Given the description of an element on the screen output the (x, y) to click on. 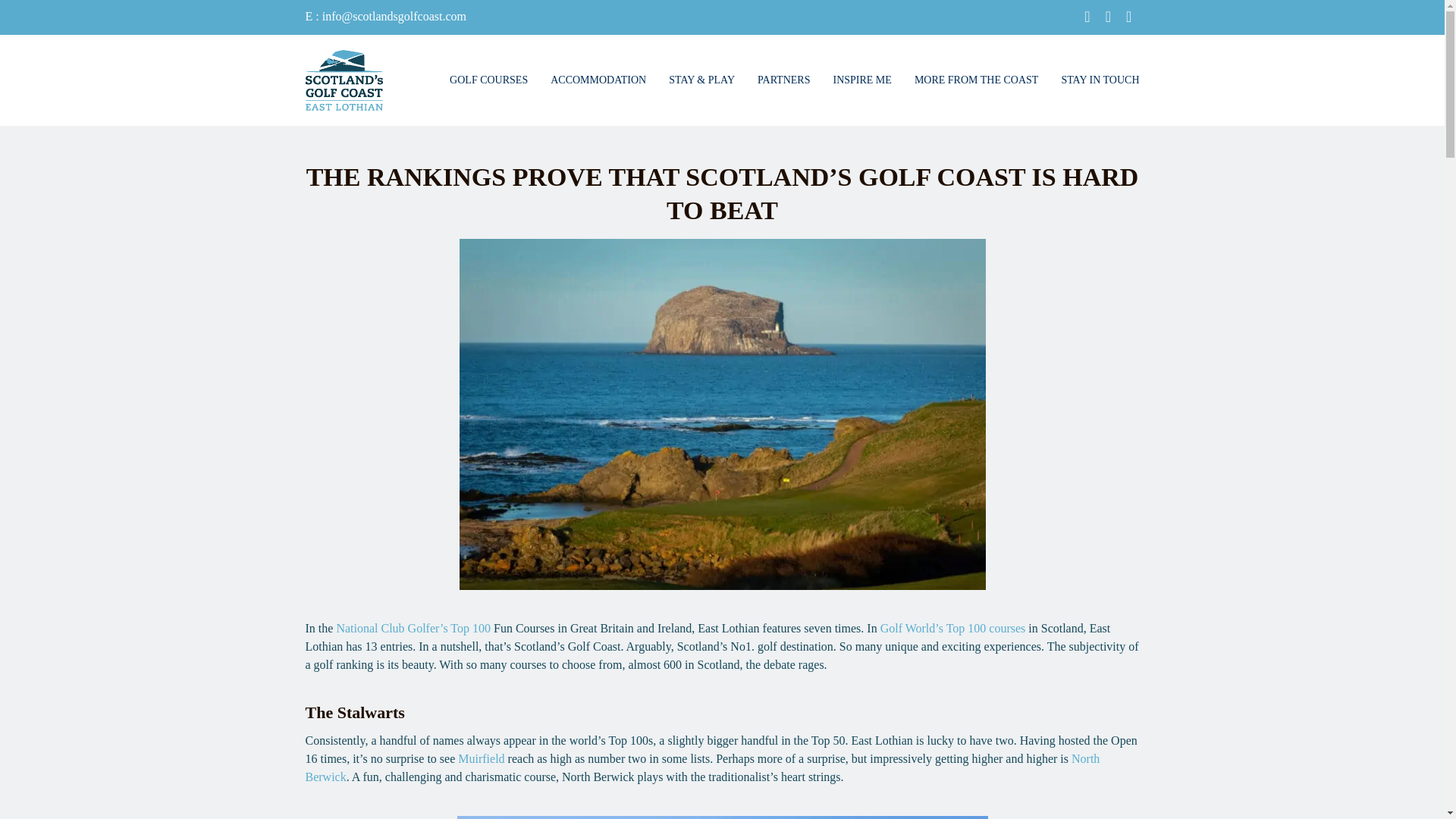
INSPIRE ME (861, 79)
North Berwick (701, 767)
STAY IN TOUCH (1093, 79)
MORE FROM THE COAST (975, 79)
PARTNERS (783, 79)
Muirfield (480, 758)
GOLF COURSES (488, 79)
ACCOMMODATION (598, 79)
